Given the description of an element on the screen output the (x, y) to click on. 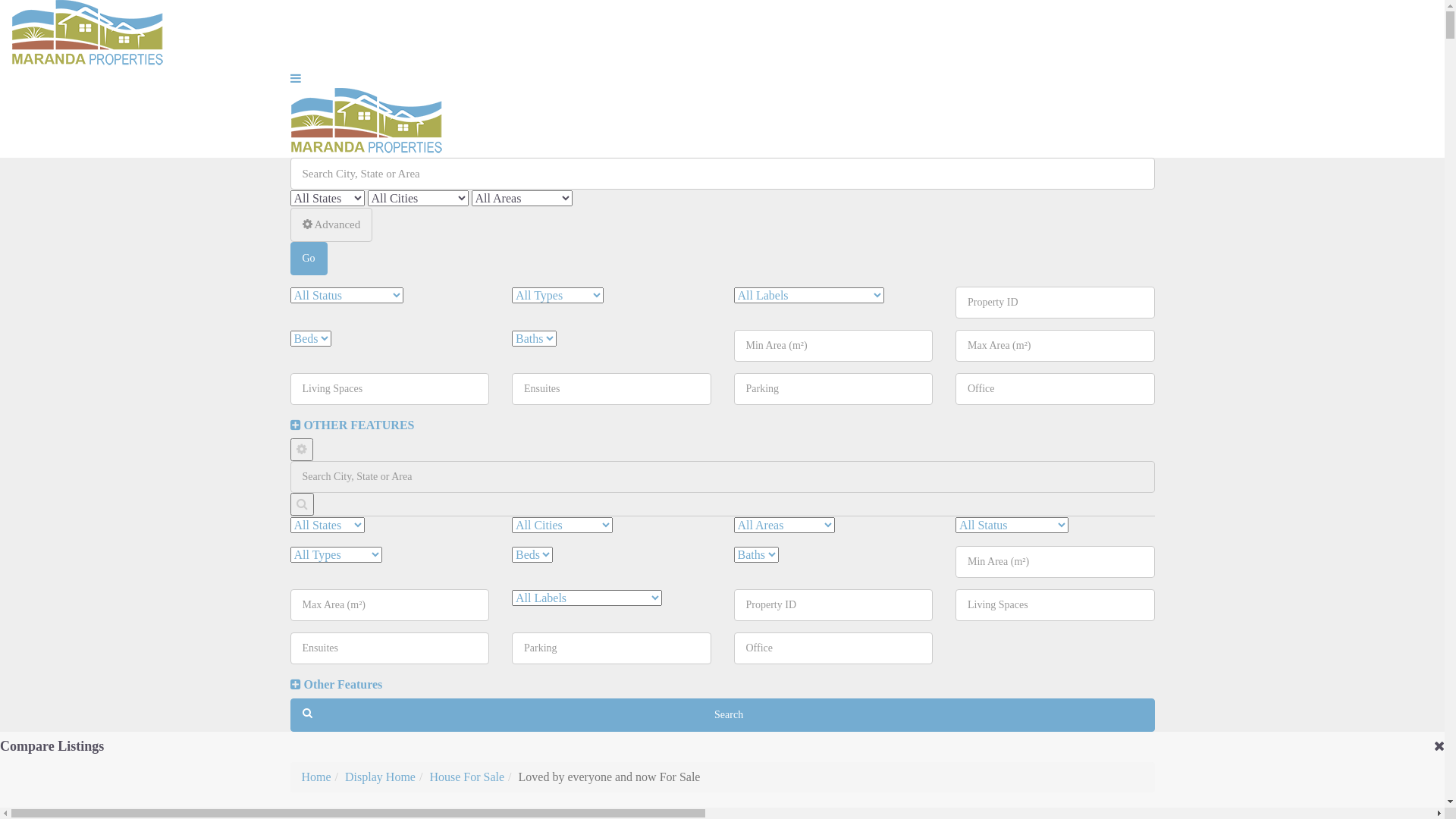
Go Element type: text (307, 258)
Home Element type: text (316, 776)
Display Home Element type: text (380, 776)
House For Sale Element type: text (466, 776)
Advanced Element type: text (330, 224)
Search Element type: text (721, 714)
